Given the description of an element on the screen output the (x, y) to click on. 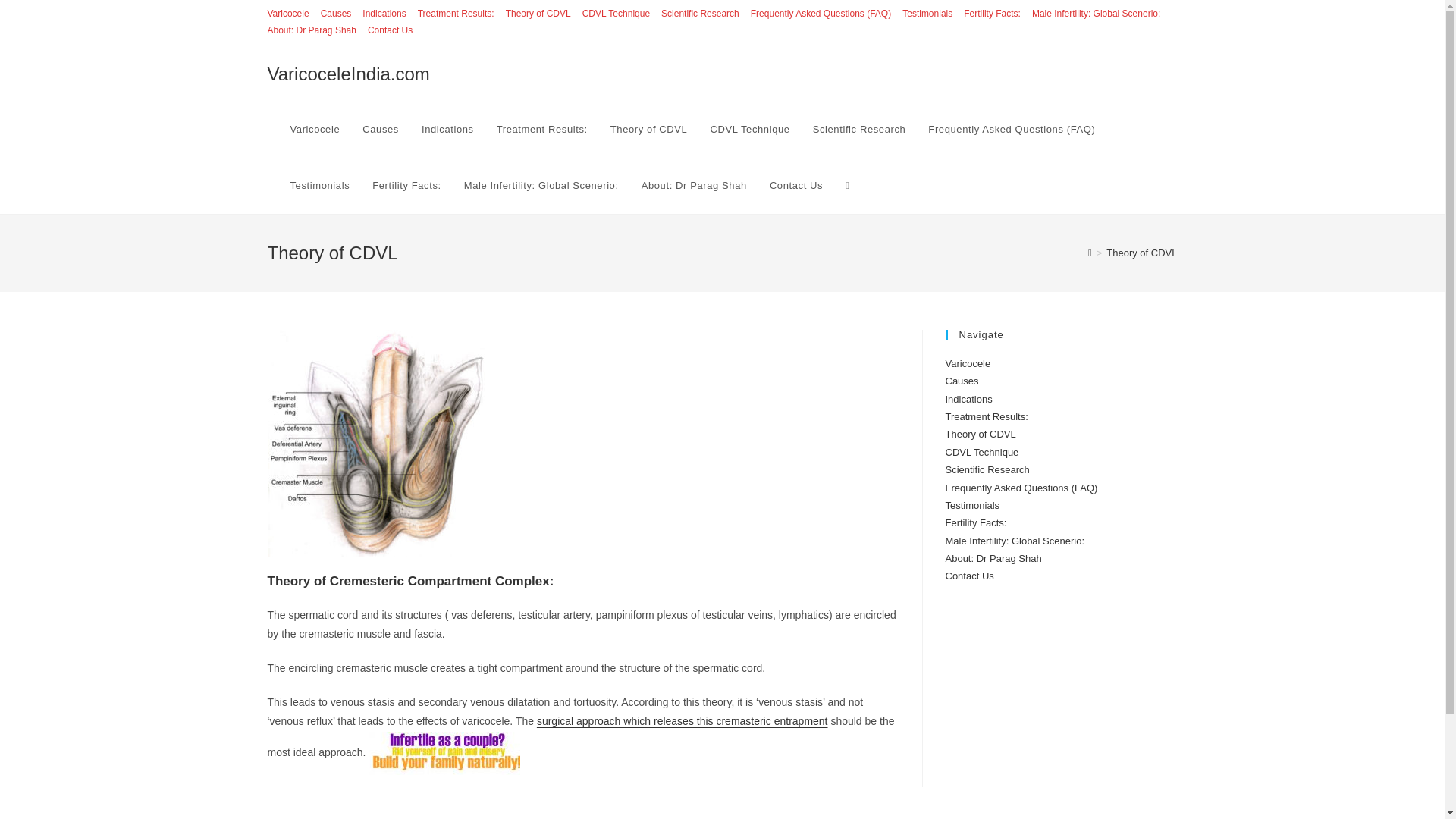
Contact Us (796, 185)
Varicocele (315, 129)
About: Dr Parag Shah (310, 30)
Treatment Results: (541, 129)
Testimonials (927, 13)
Male Infertility: Global Scenerio: (541, 185)
Causes (380, 129)
CDVL Technique (749, 129)
Treatment Results: (456, 13)
Scientific Research (700, 13)
